Given the description of an element on the screen output the (x, y) to click on. 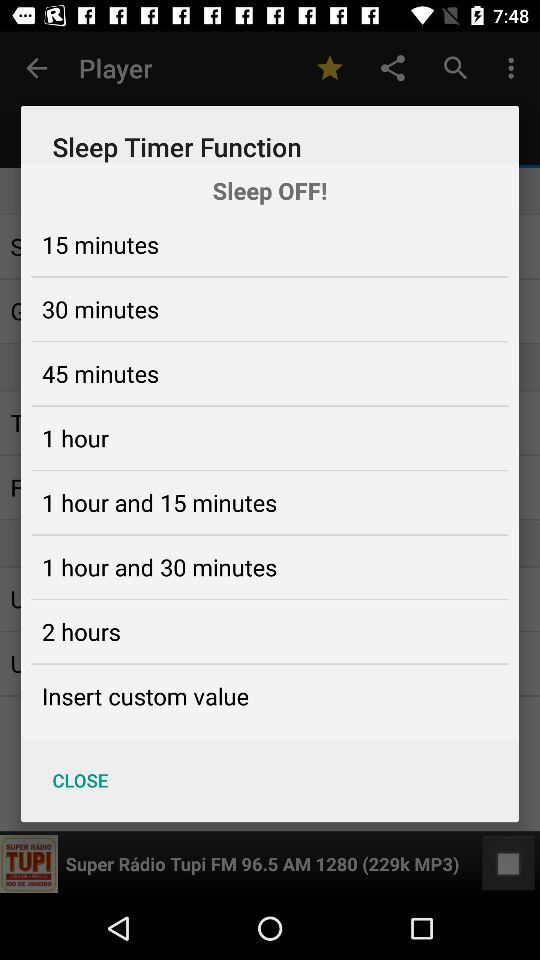
turn on the close icon (80, 779)
